Given the description of an element on the screen output the (x, y) to click on. 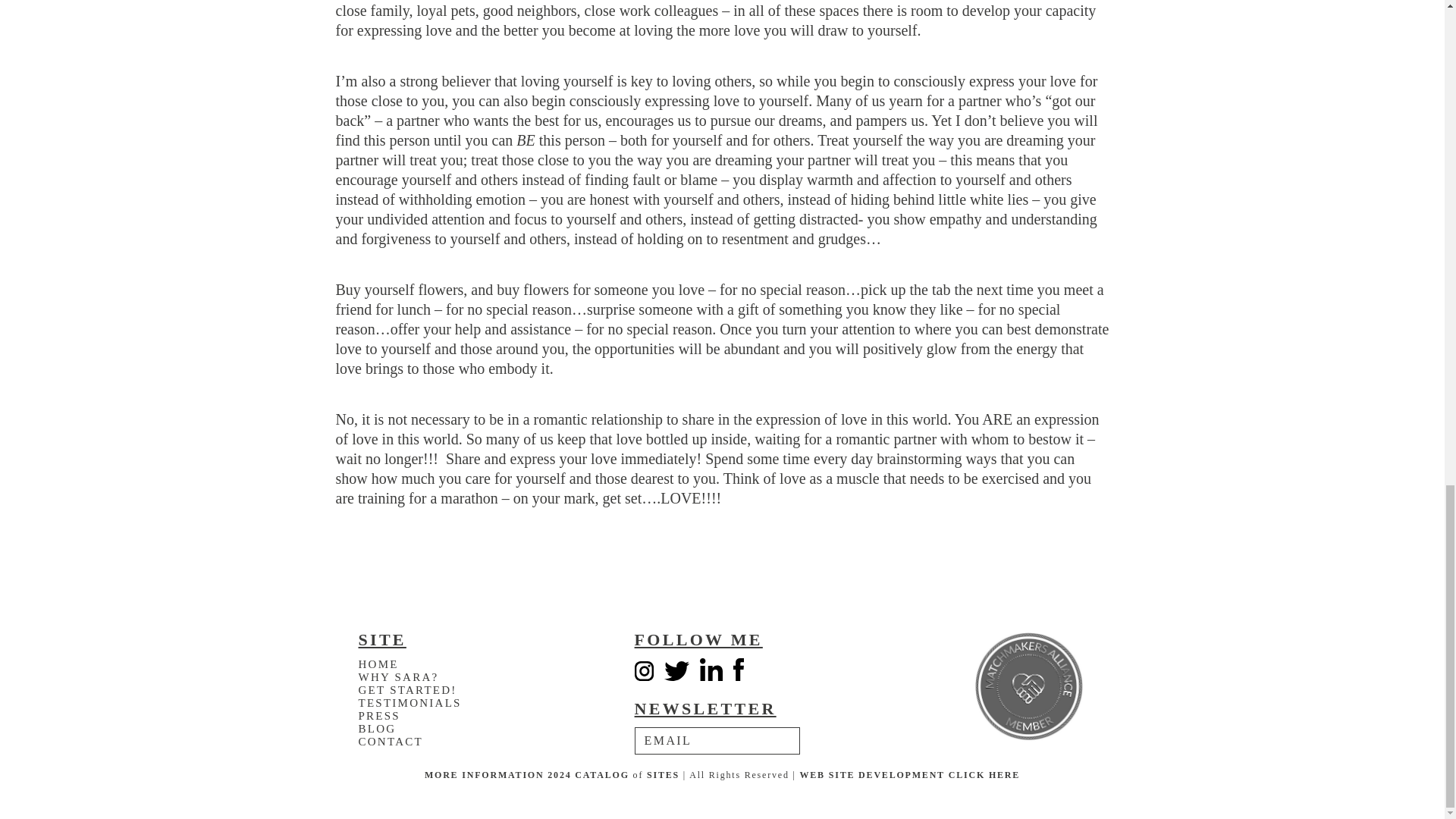
HOME (377, 664)
WEB (811, 774)
TESTIMONIALS (409, 702)
CATALOG (601, 774)
GET STARTED! (407, 689)
WHY SARA? (398, 676)
HERE (1004, 774)
2024 (558, 774)
SITE (842, 774)
SITES (662, 774)
DEVELOPMENT (901, 774)
CLICK (967, 774)
MORE (441, 774)
CONTACT (390, 741)
INFORMATION (502, 774)
